Given the description of an element on the screen output the (x, y) to click on. 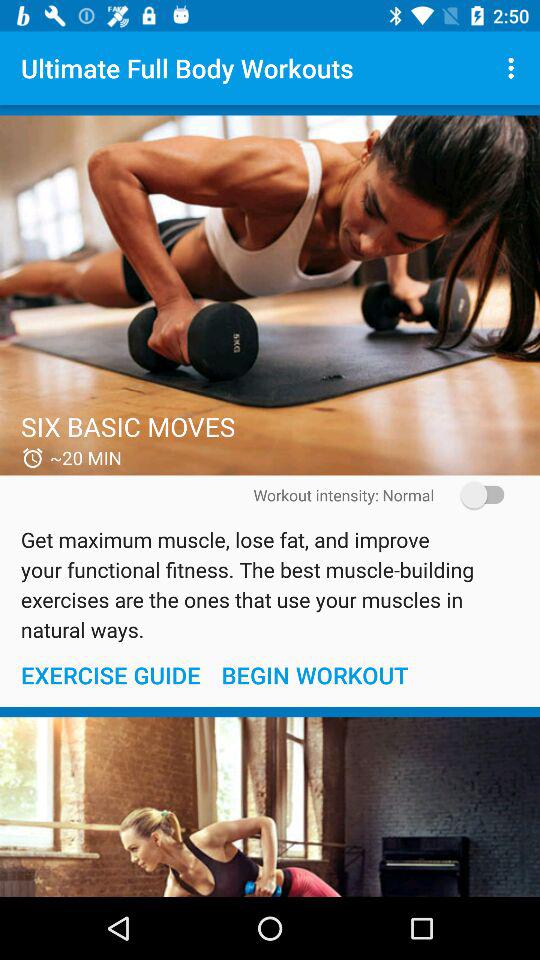
click the item on the right (476, 494)
